Given the description of an element on the screen output the (x, y) to click on. 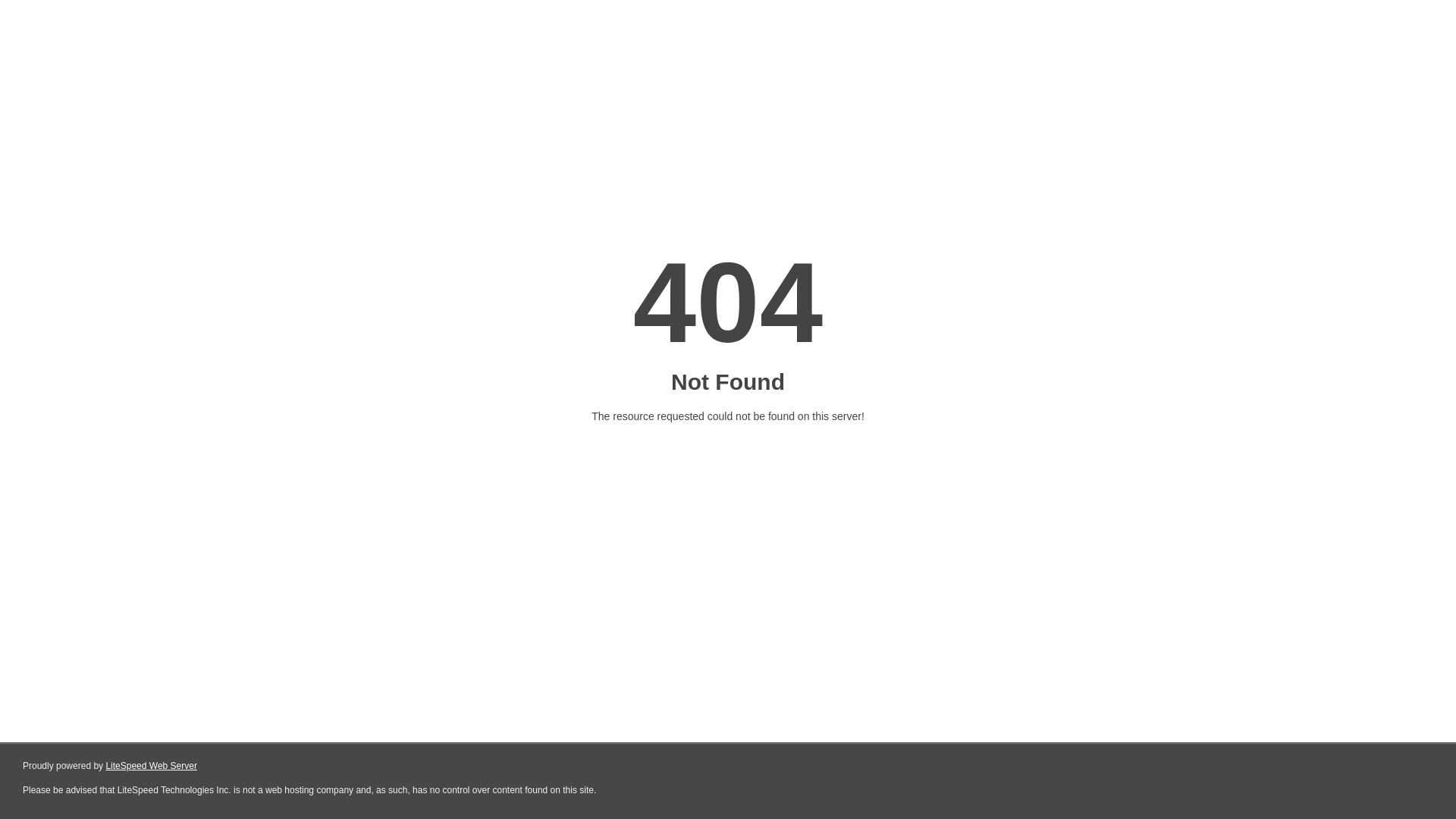
LiteSpeed Web Server Element type: text (151, 765)
